Given the description of an element on the screen output the (x, y) to click on. 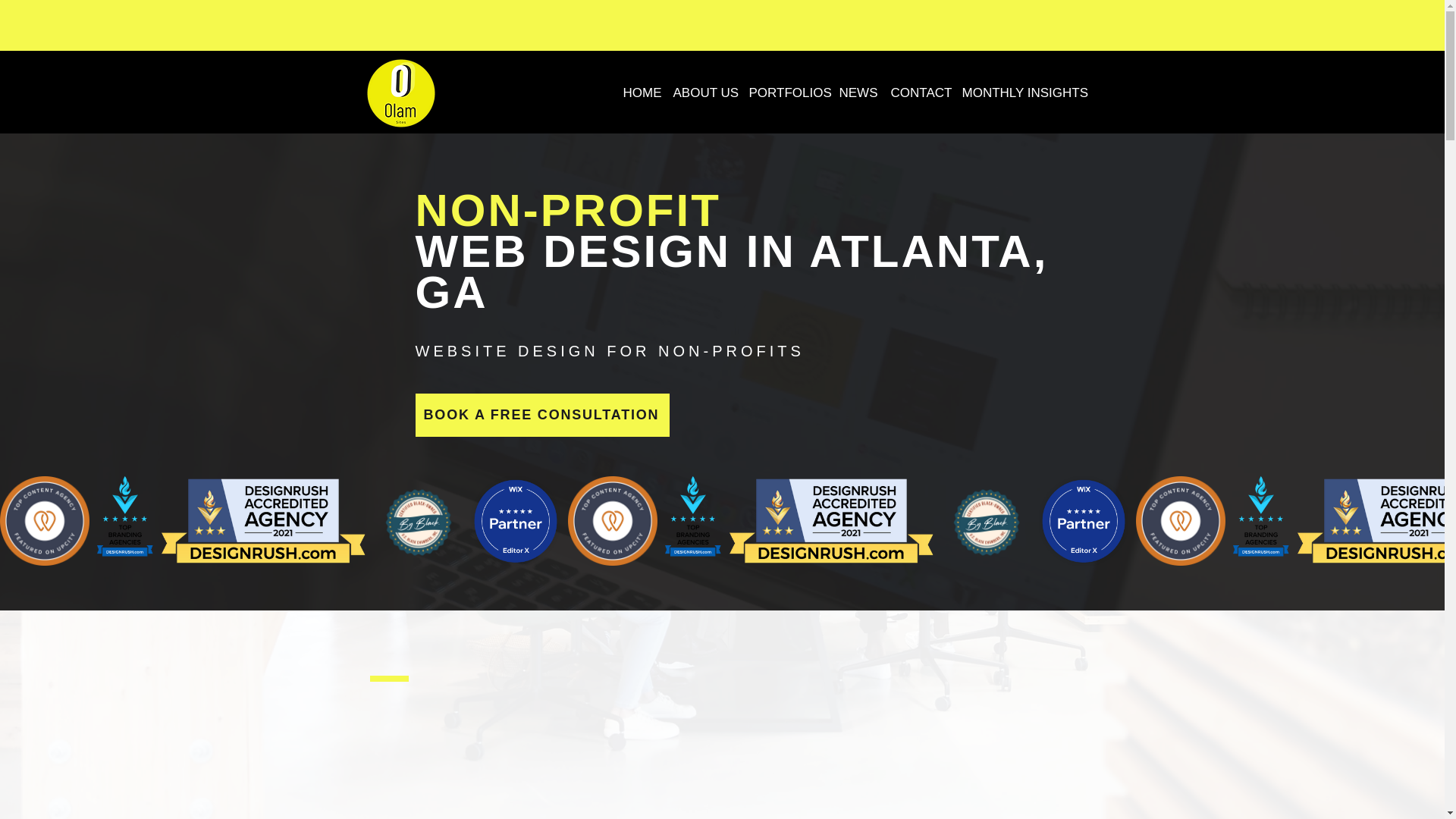
ABOUT US (701, 92)
HOME (638, 92)
BOOK A FREE CONSULTATION (541, 414)
NEWS (856, 92)
CONTACT (917, 92)
MONTHLY INSIGHTS (1017, 92)
